Given the description of an element on the screen output the (x, y) to click on. 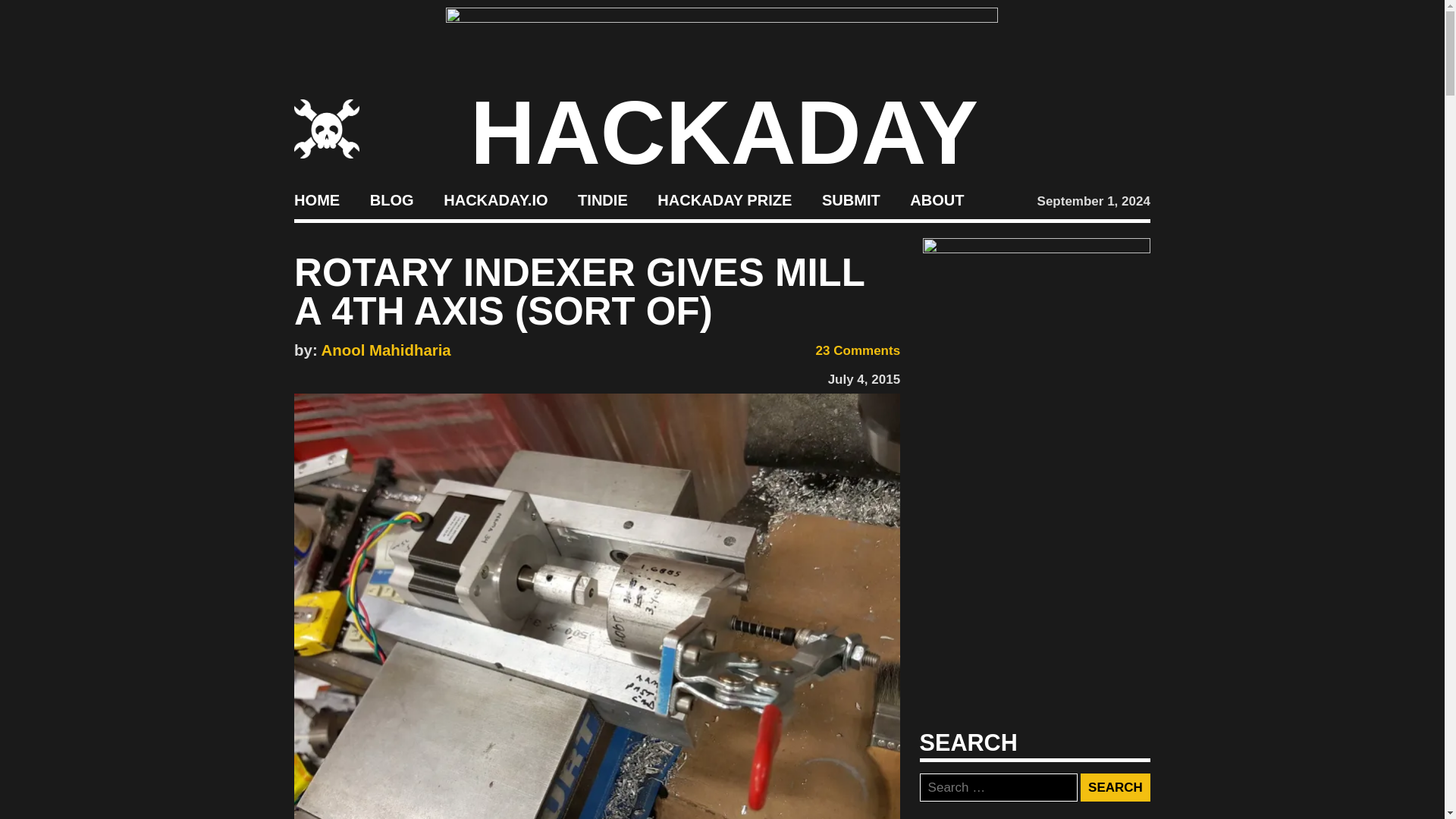
July 4, 2015 (863, 379)
Share on Reddit (369, 375)
Anool Mahidharia (386, 350)
BLOG (391, 200)
Share on Hacker News (347, 375)
Search (1115, 787)
Posts by Anool Mahidharia (386, 350)
23 Comments (847, 350)
HACKADAY.IO (495, 200)
Build Something that Matters (725, 200)
